Given the description of an element on the screen output the (x, y) to click on. 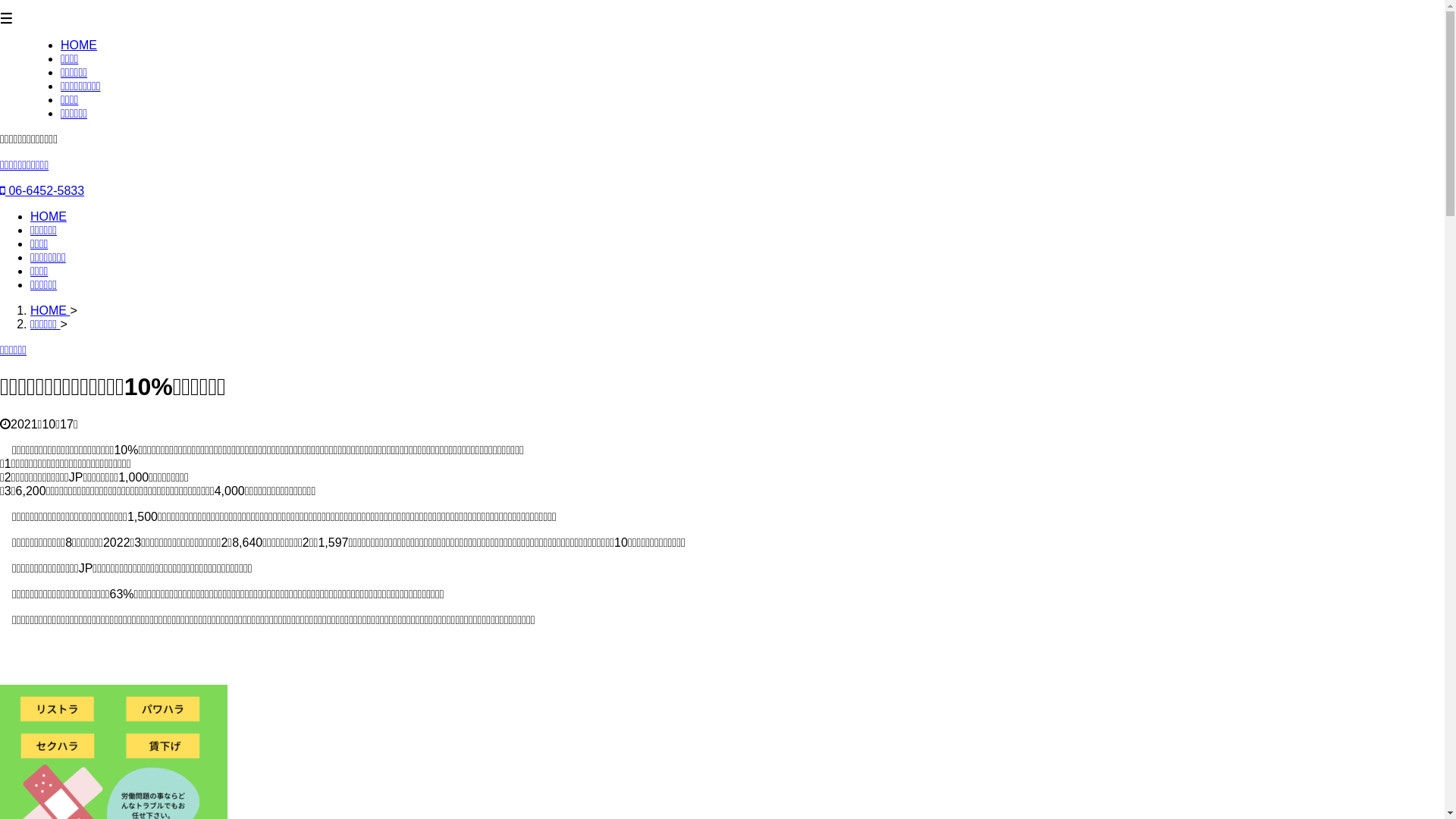
HOME Element type: text (49, 310)
 06-6452-5833 Element type: text (42, 190)
HOME Element type: text (78, 44)
HOME Element type: text (48, 216)
